Given the description of an element on the screen output the (x, y) to click on. 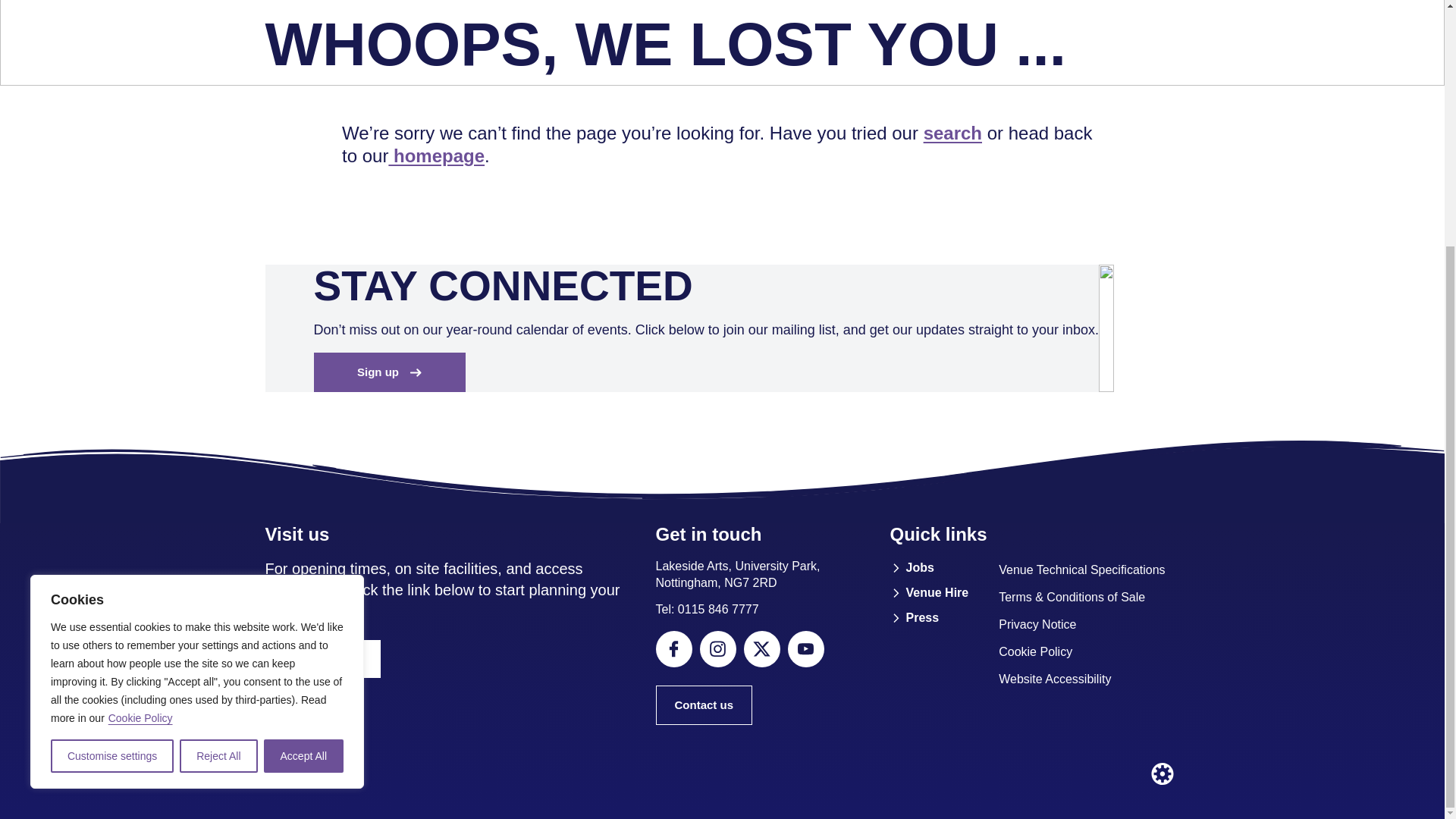
Cookie Policy (140, 375)
Accept All (303, 412)
Reject All (218, 412)
Customise settings (111, 412)
